Given the description of an element on the screen output the (x, y) to click on. 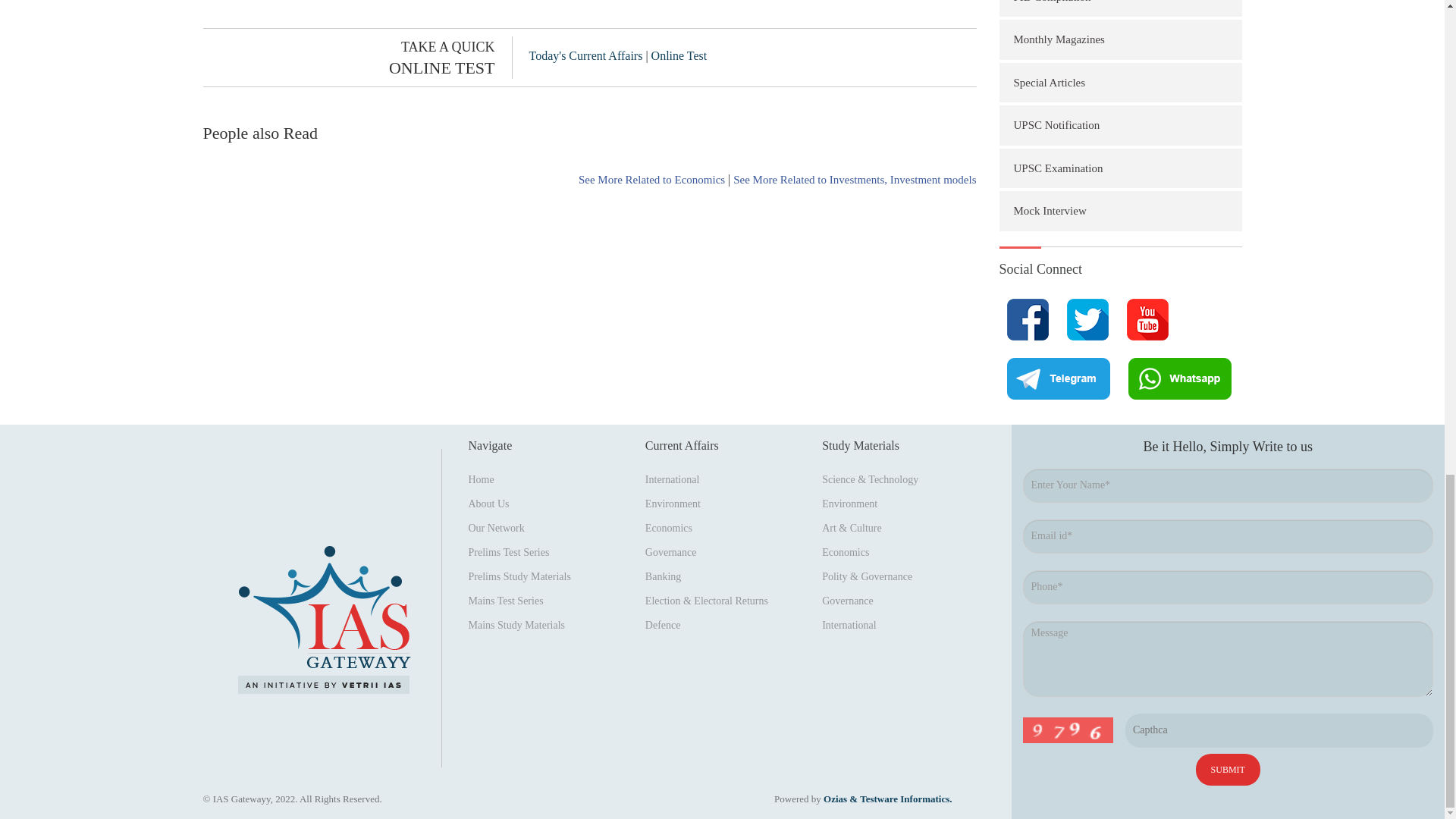
Submit (1227, 769)
